Given the description of an element on the screen output the (x, y) to click on. 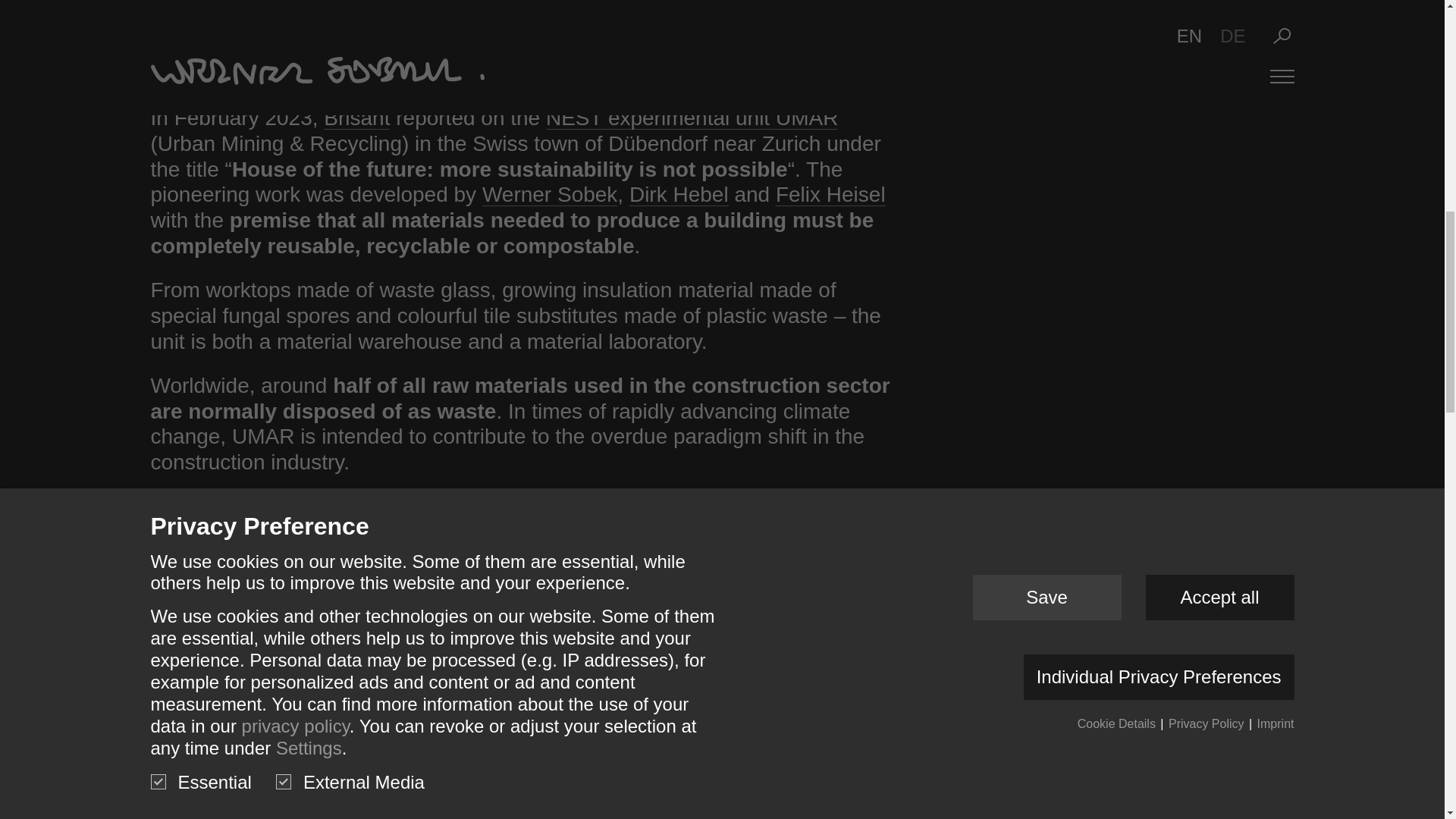
Dirk Hebel (678, 194)
Brisant (356, 117)
Felix Heisel (830, 194)
Werner Sobek (549, 194)
NEST experimental unit UMAR (692, 117)
